Given the description of an element on the screen output the (x, y) to click on. 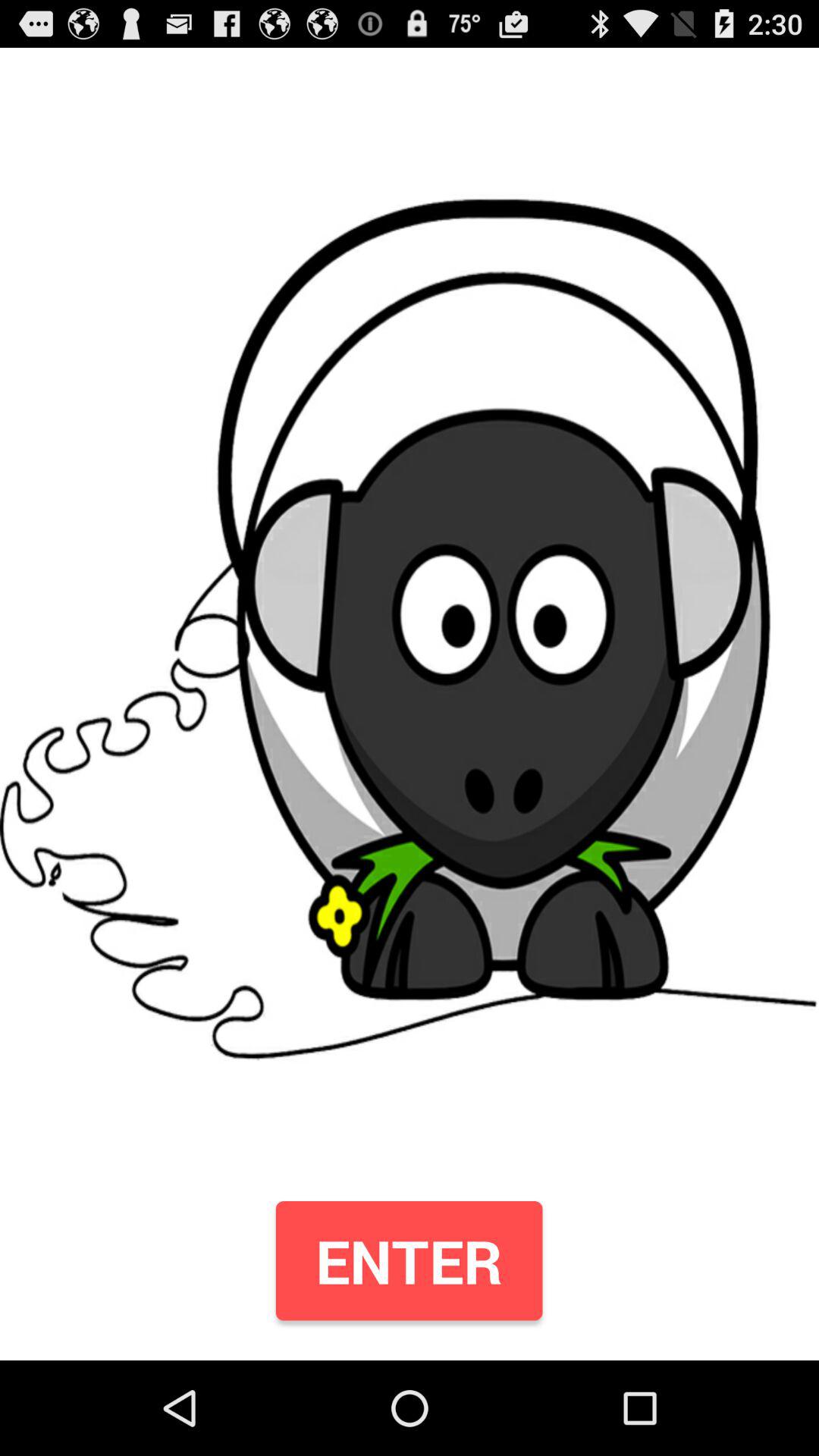
flip to enter (408, 1260)
